Given the description of an element on the screen output the (x, y) to click on. 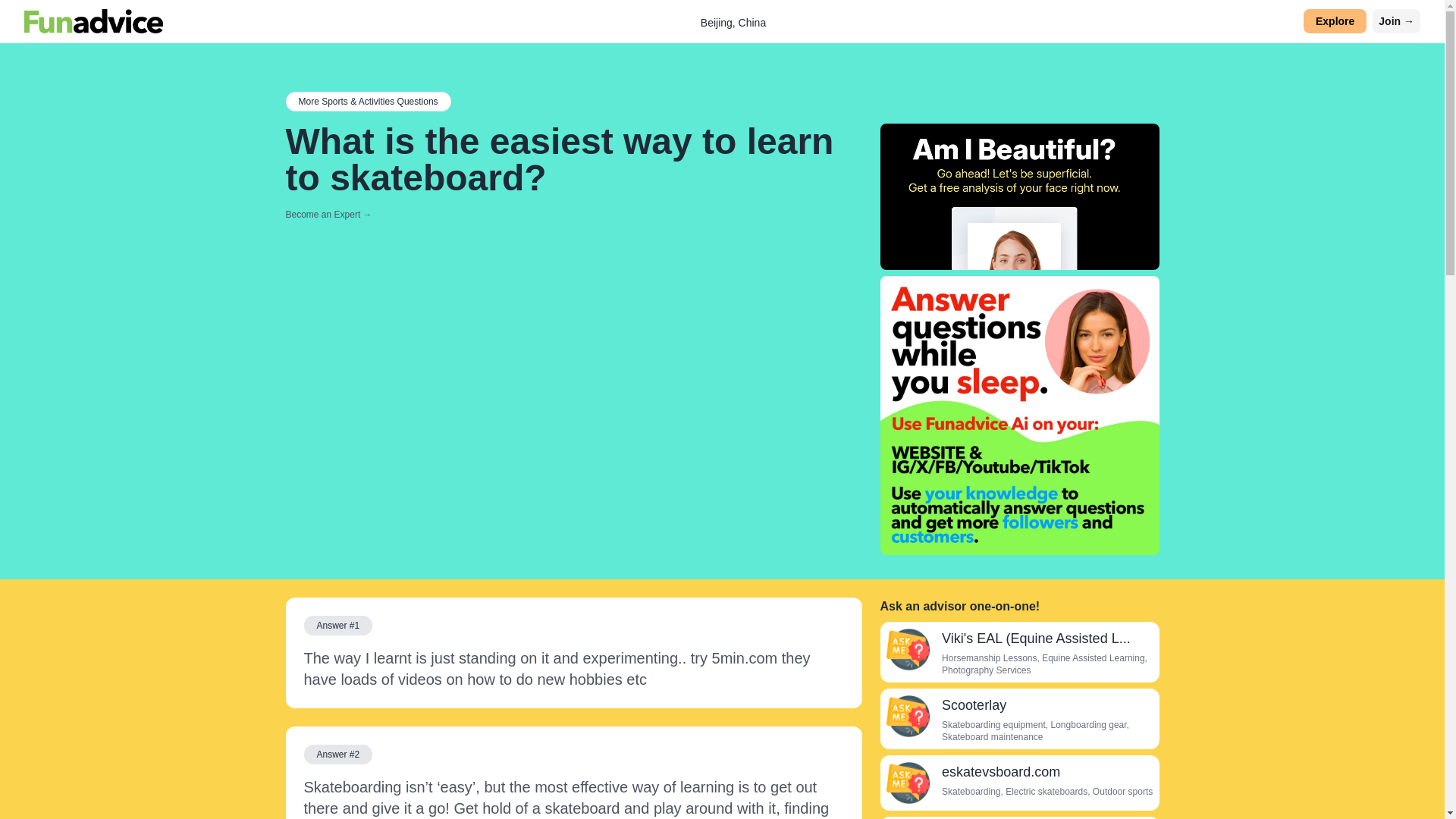
eskatevsboard.com (1000, 771)
Beijing, China (732, 22)
Scooterlay (907, 716)
eskatevsboard.com (907, 783)
Scooterlay (974, 704)
Funadvice Home (93, 21)
Explore (1335, 21)
